Given the description of an element on the screen output the (x, y) to click on. 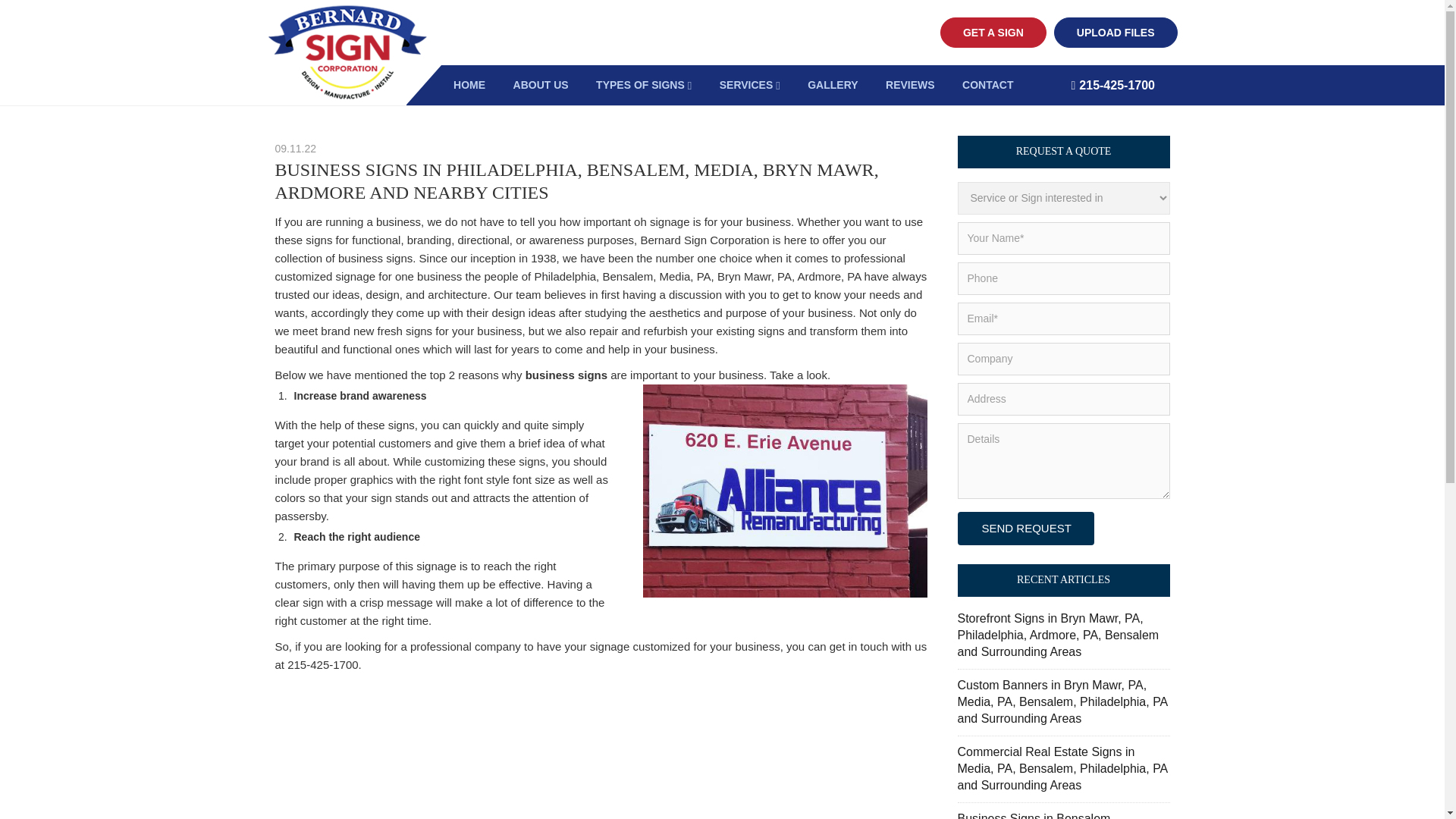
215-425-1700 (1123, 85)
TYPES OF SIGNS (643, 84)
ABOUT US (540, 84)
UPLOAD FILES (1115, 32)
CONTACT (987, 84)
GALLERY (831, 84)
HOME (469, 84)
SERVICES (749, 84)
GET A SIGN (993, 32)
REVIEWS (910, 84)
Send Request (1024, 528)
Send Request (1024, 528)
